Given the description of an element on the screen output the (x, y) to click on. 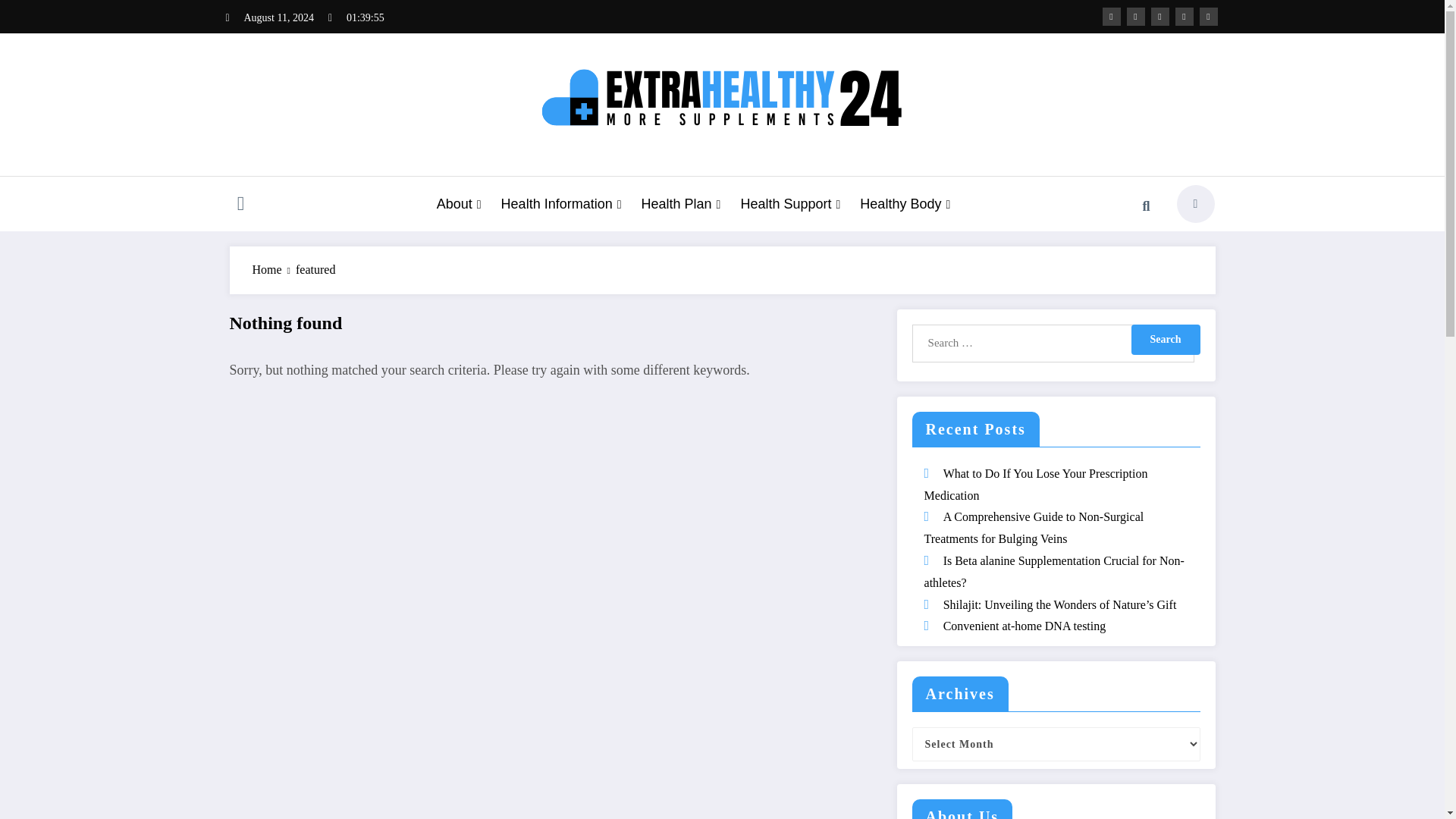
dribbble (1160, 16)
Search (1145, 206)
Search (1165, 339)
Toggle Icon (239, 205)
facebook-f (1111, 16)
Healthy Body (904, 204)
instagram (1183, 16)
Health Plan (680, 204)
fa-brands fa-x-twitter (1135, 16)
EXTRA HEALTHY 24 (643, 173)
